Given the description of an element on the screen output the (x, y) to click on. 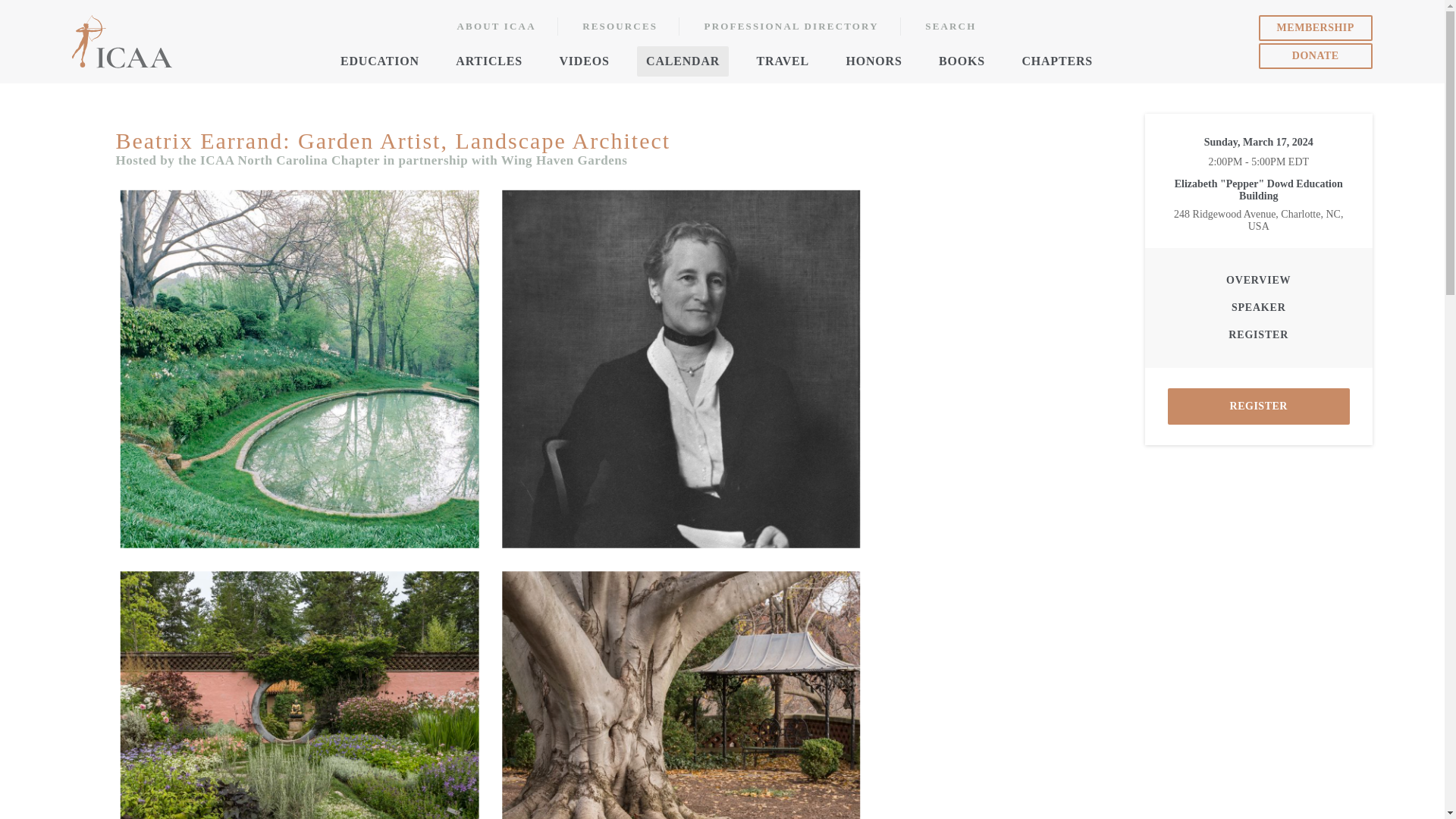
PROFESSIONAL DIRECTORY (791, 26)
VIDEOS (583, 60)
SEARCH (950, 26)
CALENDAR (683, 60)
ARTICLES (488, 60)
TRAVEL (783, 60)
EDUCATION (379, 60)
RESOURCES (619, 26)
ICAA (122, 41)
HONORS (873, 60)
ABOUT ICAA (496, 26)
